Given the description of an element on the screen output the (x, y) to click on. 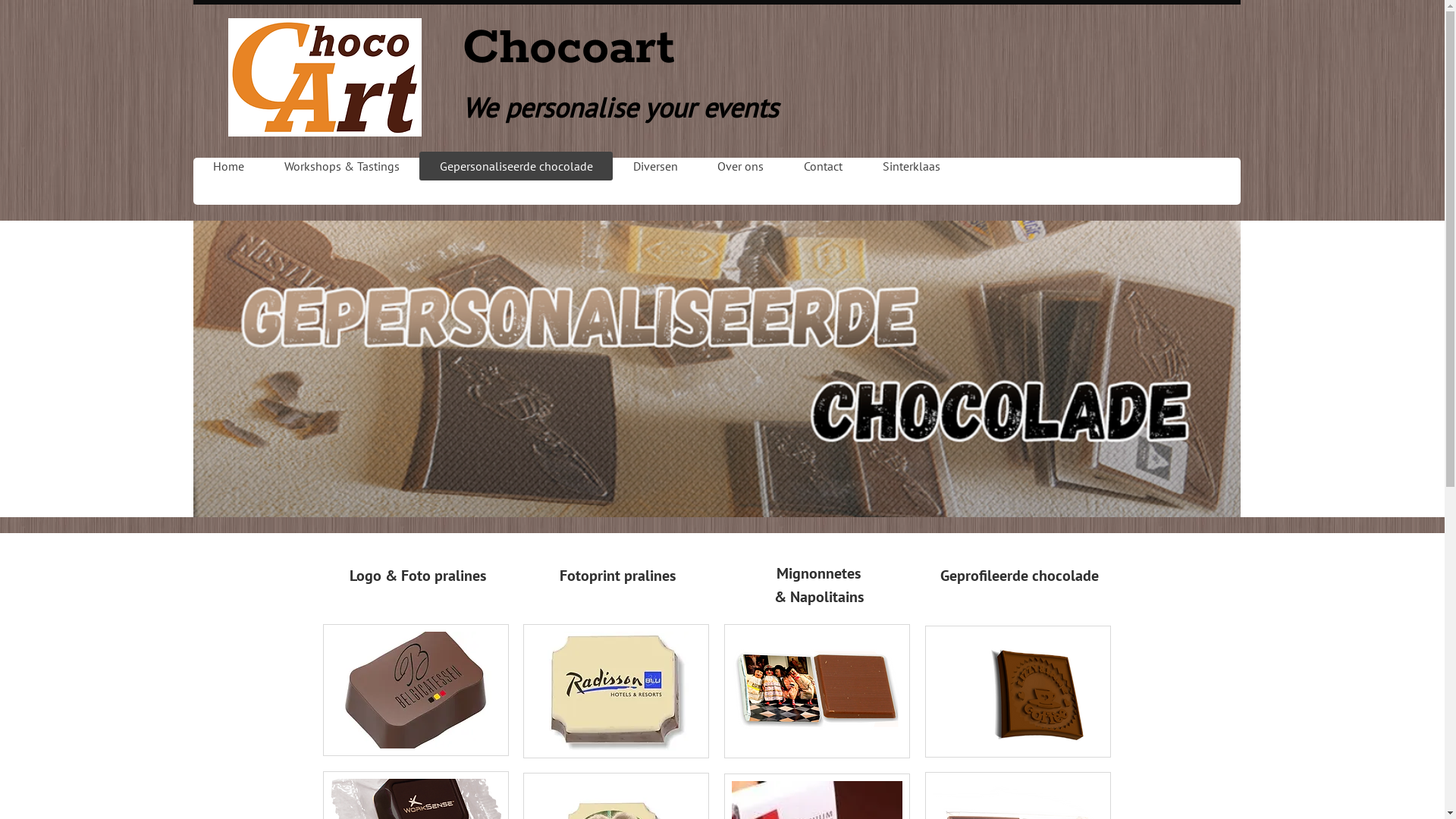
Over ons Element type: text (740, 165)
Gepersonaliseerde chocolade Element type: text (515, 165)
Diversen Element type: text (654, 165)
Workshops & Tastings Element type: text (341, 165)
Home Element type: text (227, 165)
Contact Element type: text (823, 165)
Sinterklaas Element type: text (911, 165)
